Given the description of an element on the screen output the (x, y) to click on. 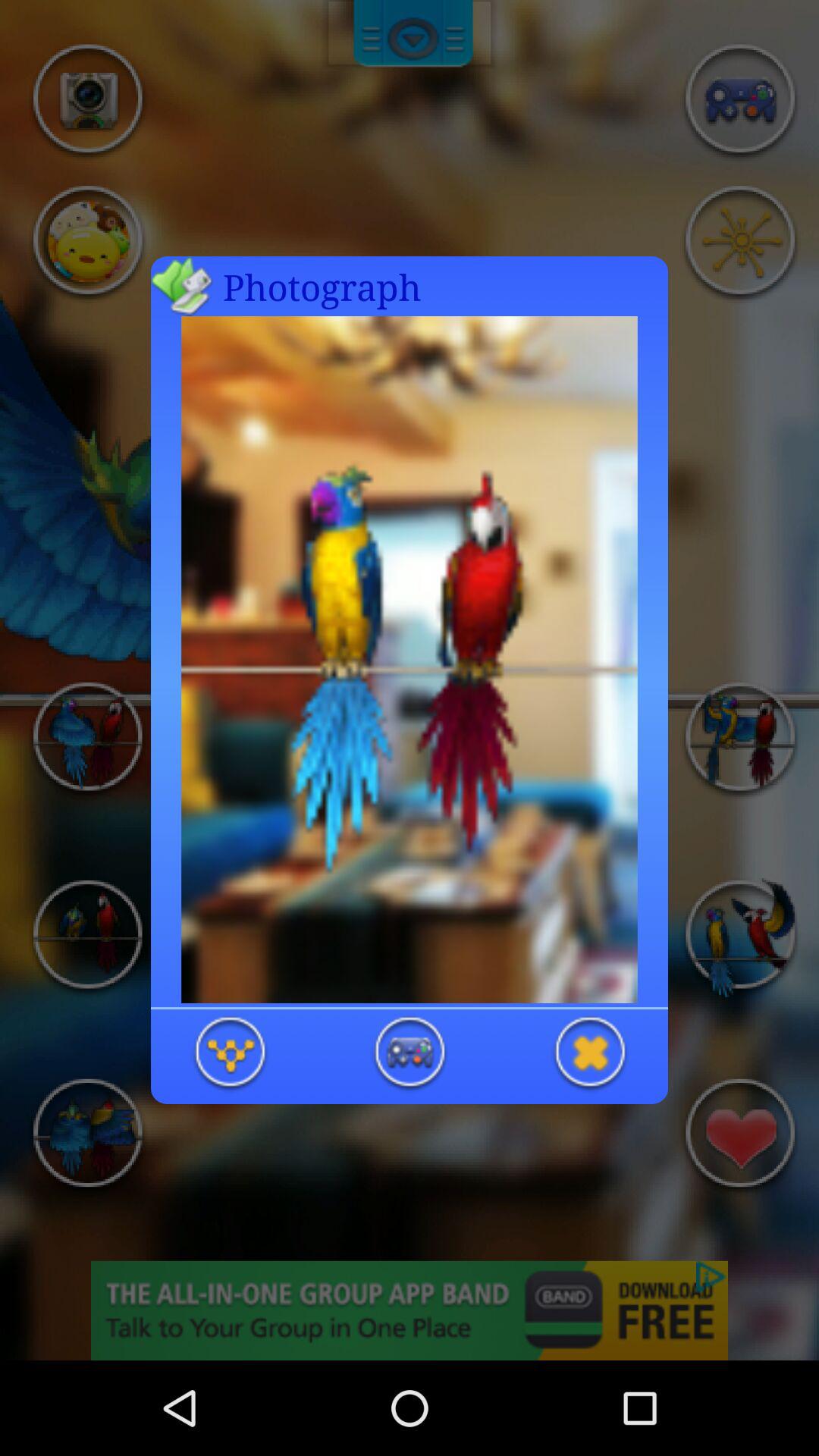
start the event (409, 1054)
